Given the description of an element on the screen output the (x, y) to click on. 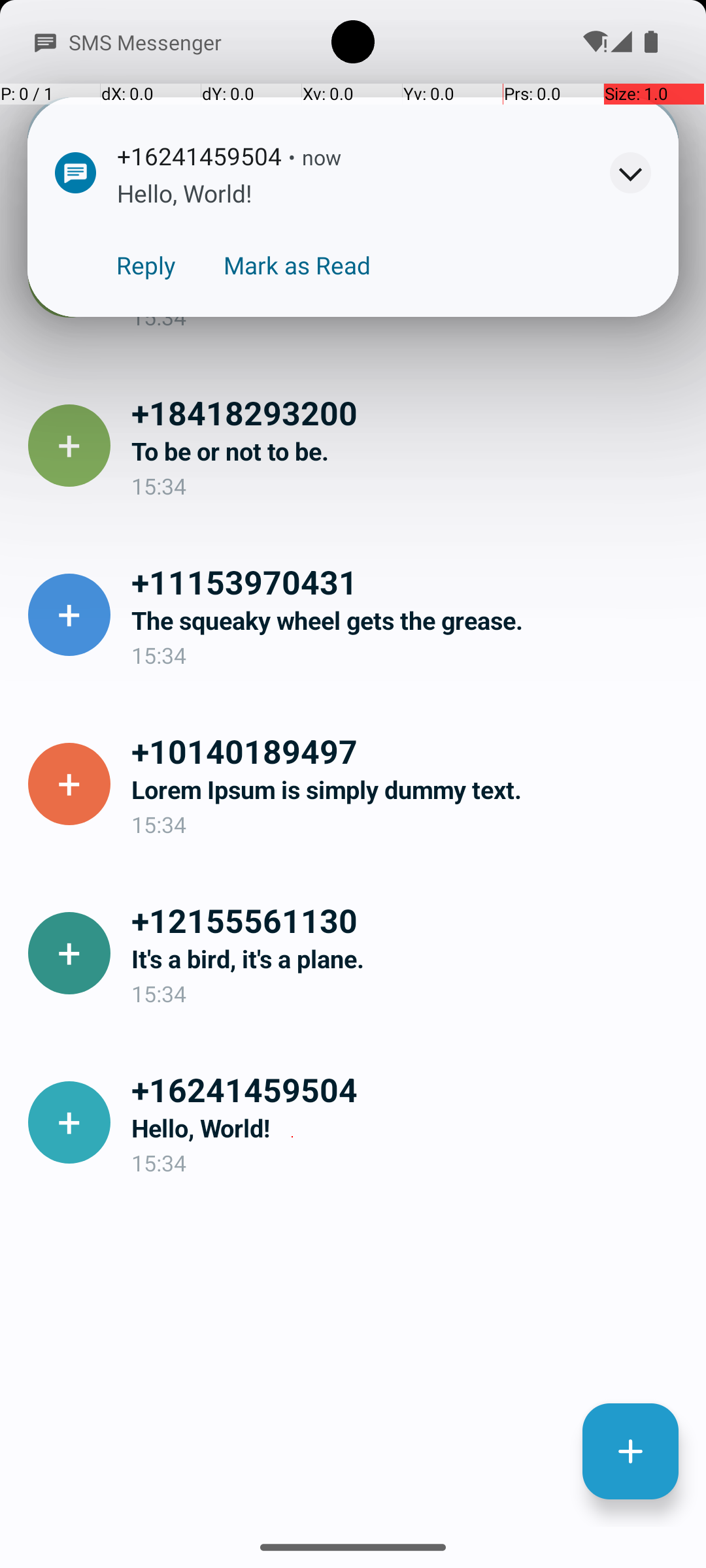
+17041307711 Element type: android.widget.TextView (408, 242)
Winter is coming. Element type: android.widget.TextView (408, 281)
+18418293200 Element type: android.widget.TextView (408, 412)
To be or not to be. Element type: android.widget.TextView (408, 450)
+11153970431 Element type: android.widget.TextView (408, 581)
The squeaky wheel gets the grease. Element type: android.widget.TextView (408, 620)
+10140189497 Element type: android.widget.TextView (408, 750)
Lorem Ipsum is simply dummy text. Element type: android.widget.TextView (408, 789)
+12155561130 Element type: android.widget.TextView (408, 919)
+16241459504 Element type: android.widget.TextView (408, 1088)
Hello, World! Element type: android.widget.TextView (408, 1127)
On Element type: android.widget.Switch (186, 39)
Off Element type: android.widget.Switch (518, 104)
Expand Element type: android.widget.Button (630, 172)
Reply Element type: android.widget.Button (146, 265)
Mark as Read Element type: android.widget.Button (296, 265)
• Element type: android.widget.TextView (291, 157)
now Element type: android.widget.TextView (321, 157)
Alerted Element type: android.widget.ImageView (361, 158)
